Given the description of an element on the screen output the (x, y) to click on. 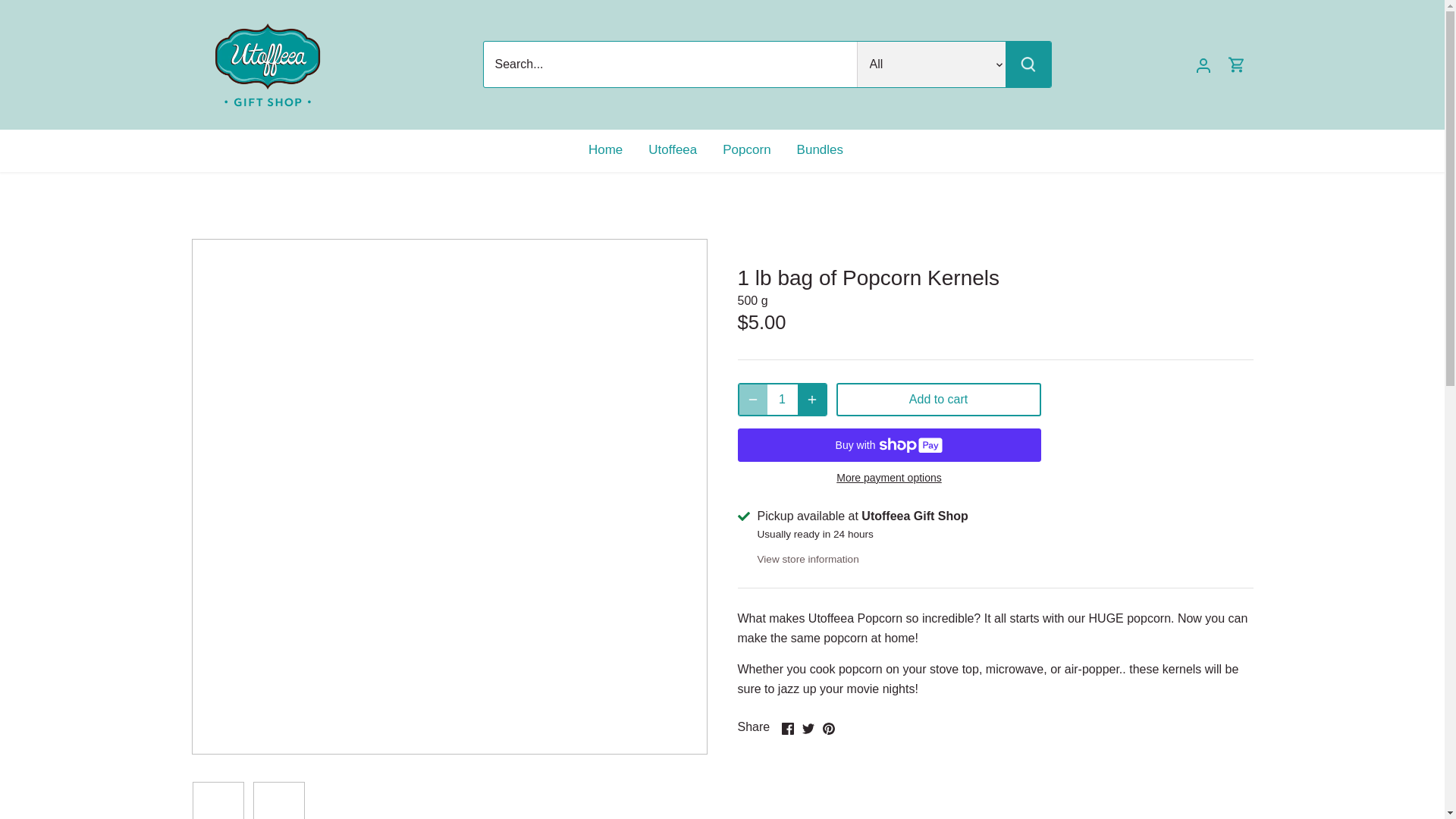
Bundles (820, 149)
View store information (808, 558)
1 (782, 399)
Utoffeea (672, 149)
Twitter (807, 728)
Popcorn (746, 149)
Pinterest (828, 728)
Facebook (787, 728)
Add to cart (938, 399)
More payment options (888, 478)
